Given the description of an element on the screen output the (x, y) to click on. 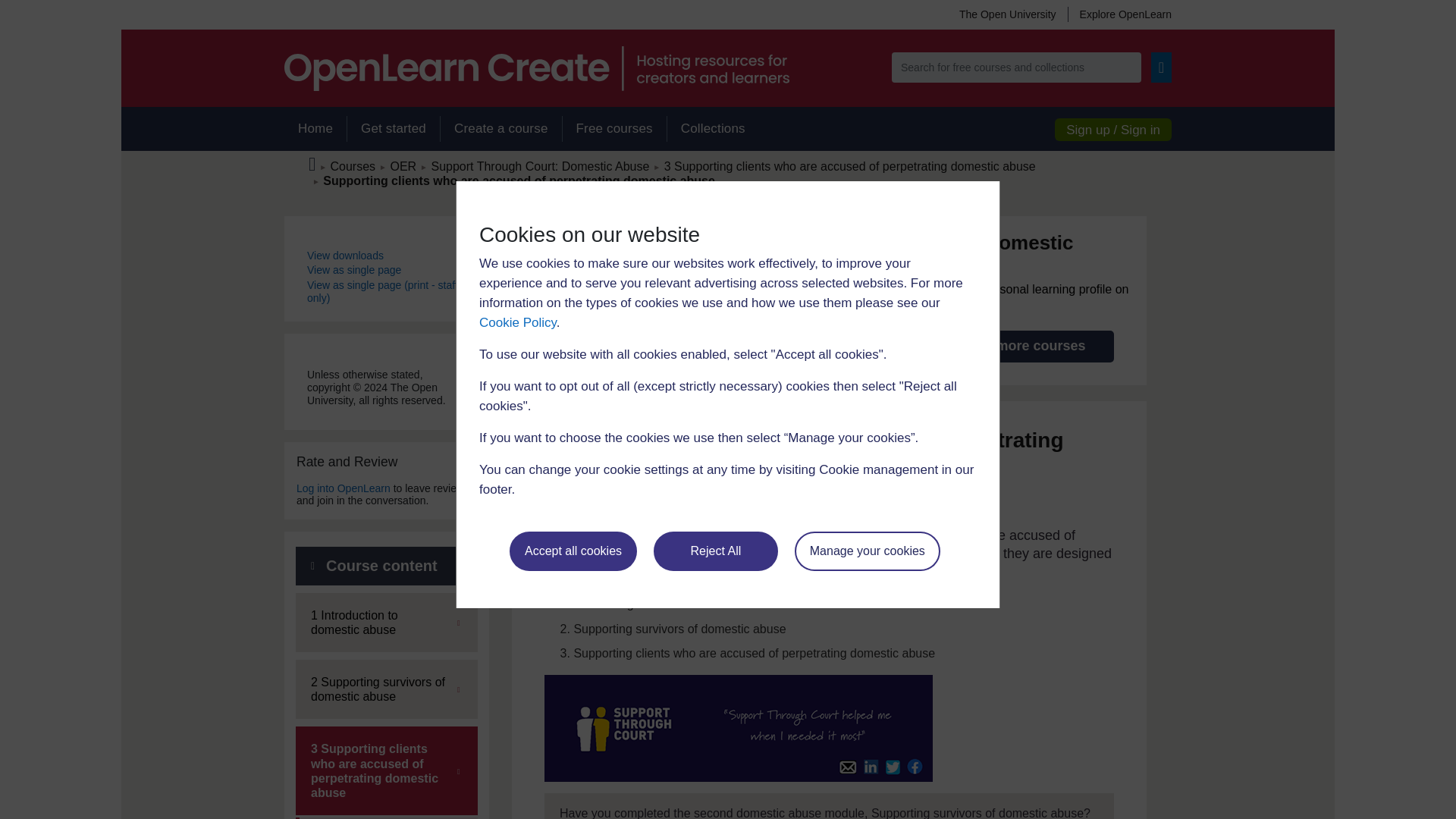
Cookie Policy (517, 322)
OpenLearn Create (536, 67)
Collections (712, 128)
The Open University (1007, 14)
Back to course content tab (386, 566)
Accept all cookies (573, 550)
The Open University (1007, 14)
Free courses (614, 128)
Create a course (500, 128)
Reject All (715, 550)
Explore OpenLearn (1119, 14)
Manage your cookies (867, 550)
Explore OpenLearn (1119, 14)
Get started (392, 128)
Home (314, 128)
